Given the description of an element on the screen output the (x, y) to click on. 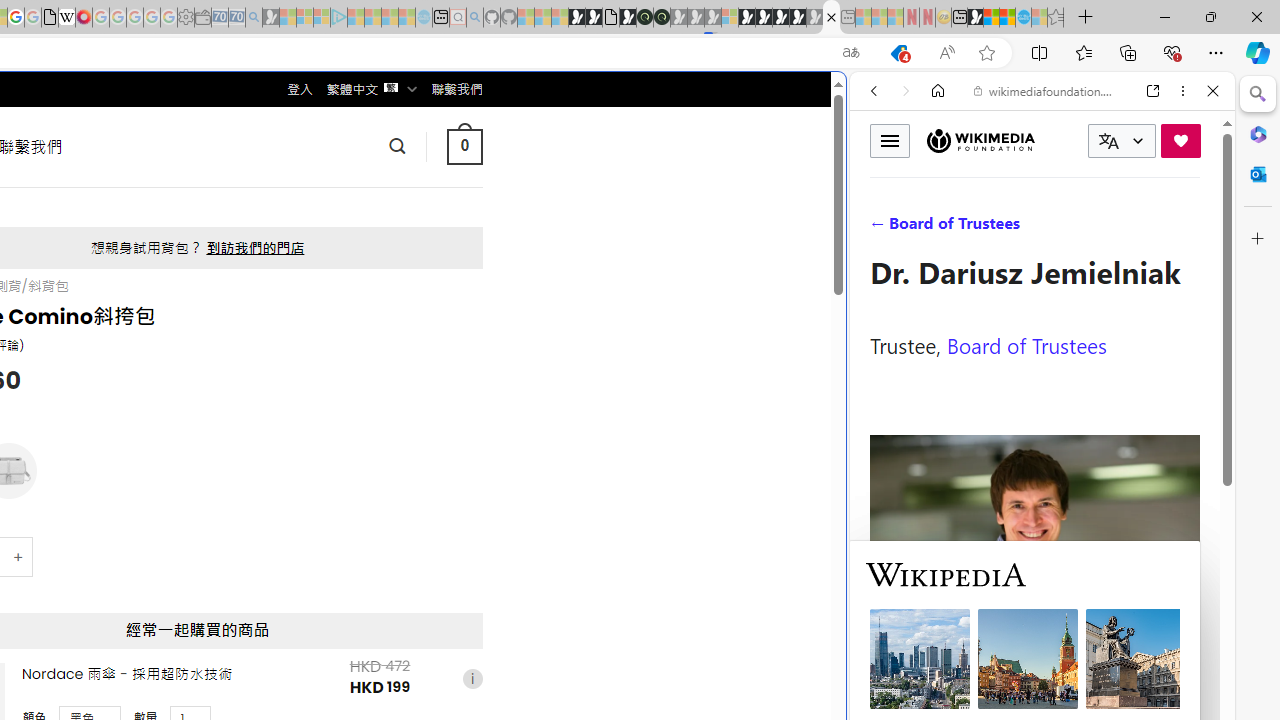
 0  (464, 146)
Search or enter web address (343, 191)
Toggle menu (890, 140)
